Given the description of an element on the screen output the (x, y) to click on. 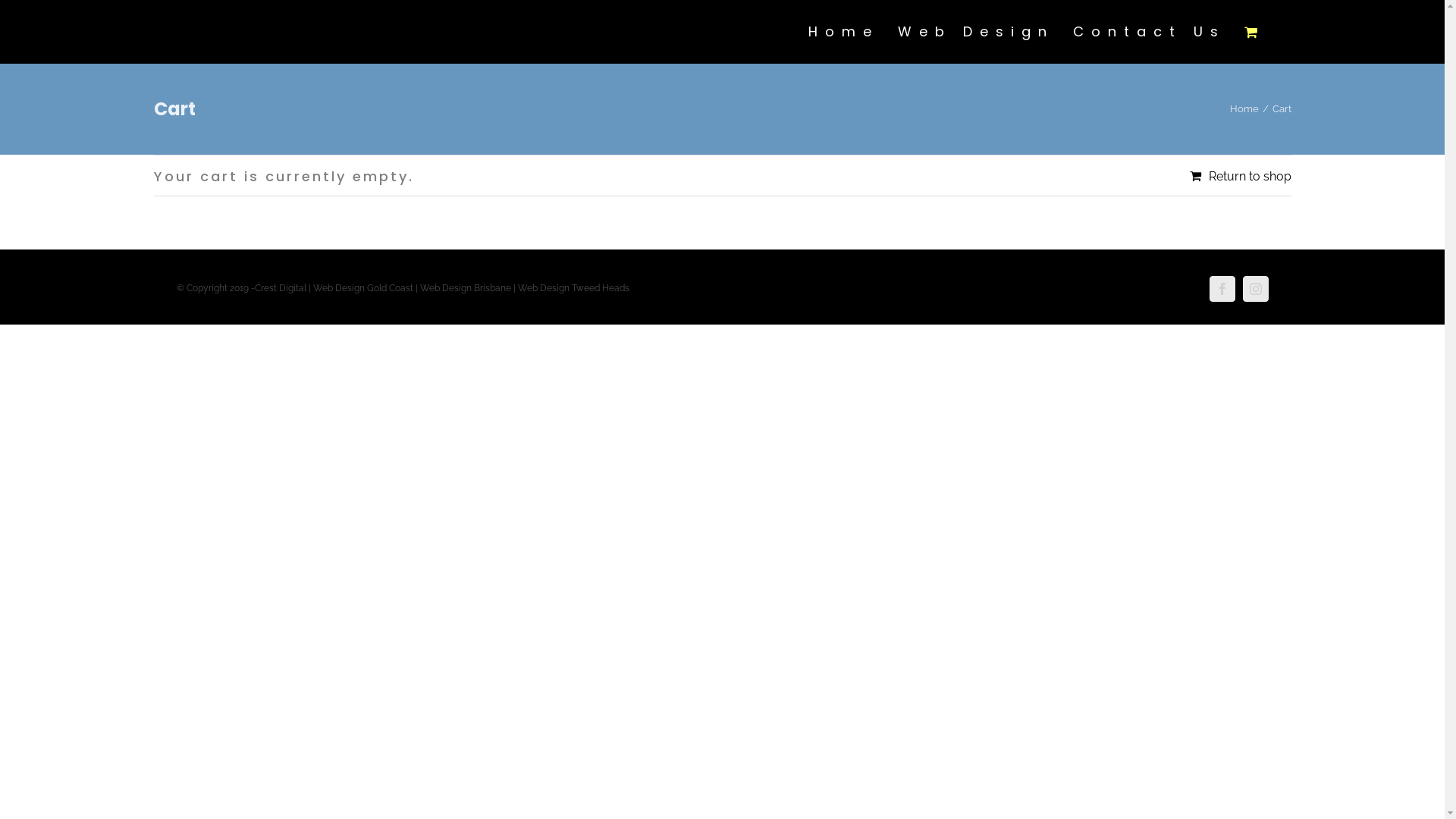
Return to shop Element type: text (1239, 176)
Home Element type: text (1244, 108)
Instagram Element type: text (1254, 288)
Home Element type: text (843, 31)
Facebook Element type: text (1221, 288)
Contact Us Element type: text (1148, 31)
Web Design Element type: text (975, 31)
